Given the description of an element on the screen output the (x, y) to click on. 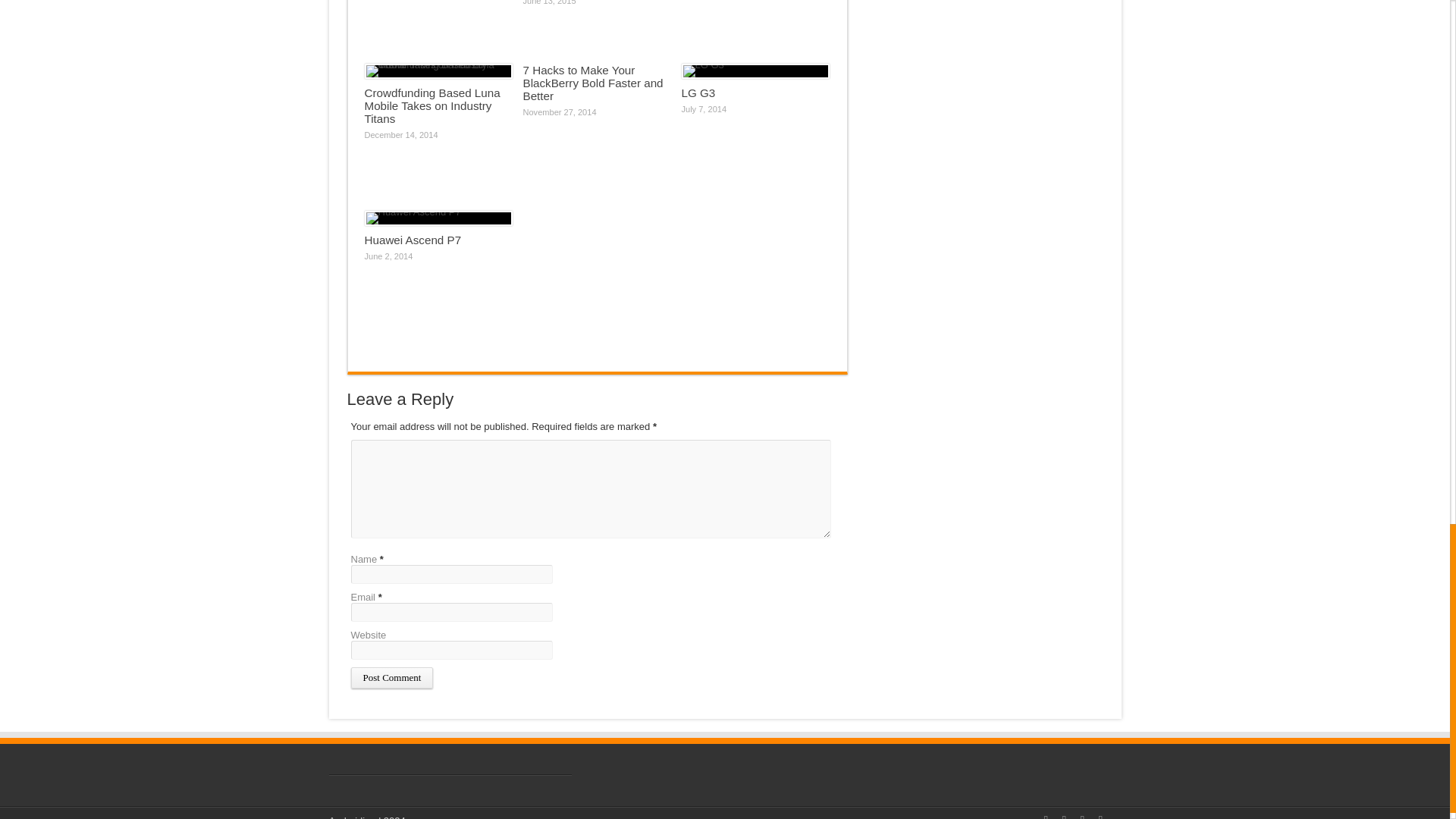
Post Comment (391, 677)
7 Hacks to Make Your BlackBerry Bold Faster and Better (592, 82)
LG G3 (697, 92)
Post Comment (391, 677)
Crowdfunding Based Luna Mobile Takes on Industry Titans (431, 105)
Huawei Ascend P7 (412, 239)
